Given the description of an element on the screen output the (x, y) to click on. 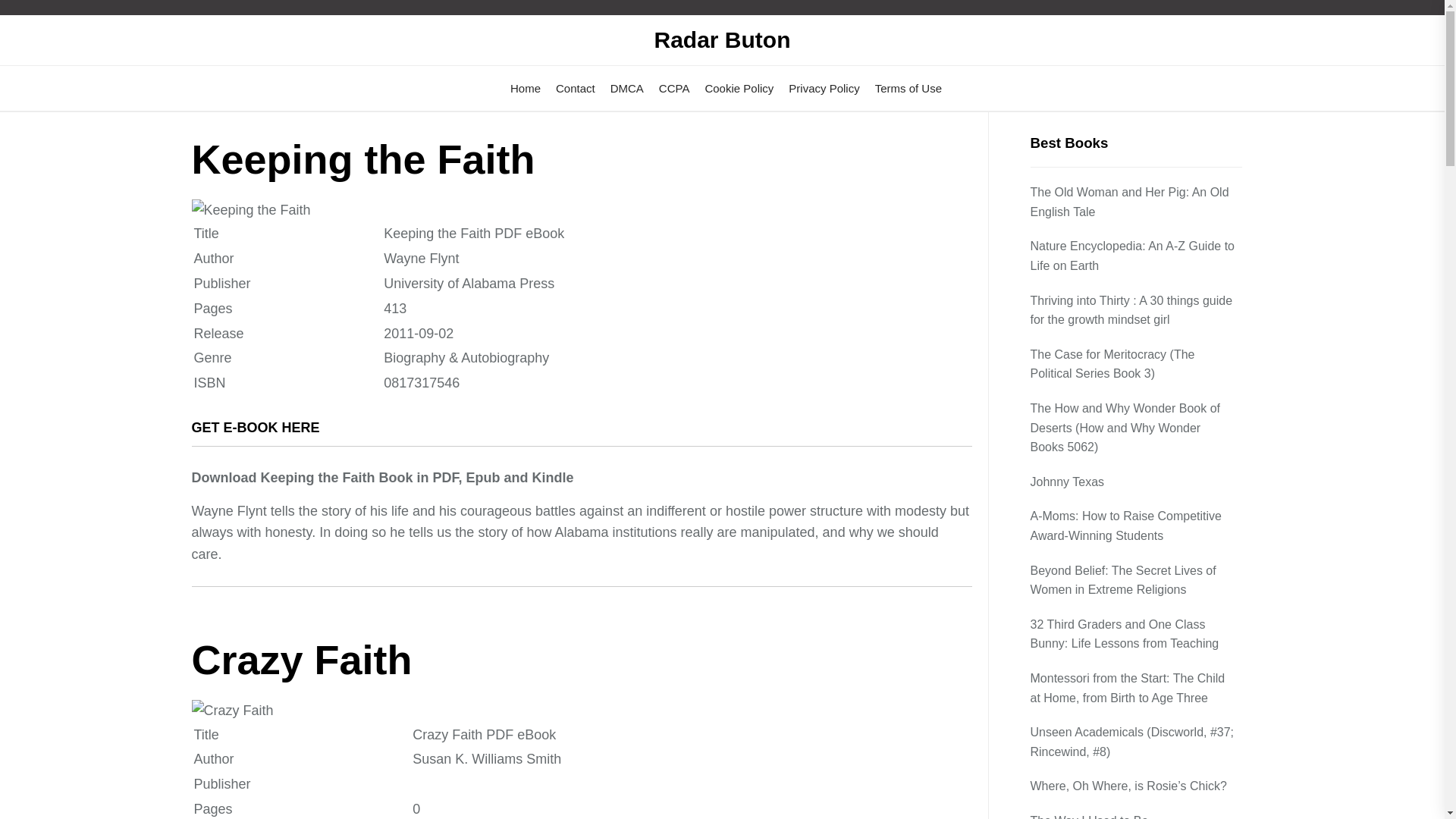
The Way I Used to Be (1091, 815)
GET E-BOOK HERE (254, 427)
Contact (575, 88)
The Old Woman and Her Pig: An Old English Tale (1135, 201)
Cookie Policy (738, 88)
Radar Buton (721, 40)
A-Moms: How to Raise Competitive Award-Winning Students (1135, 525)
